Given the description of an element on the screen output the (x, y) to click on. 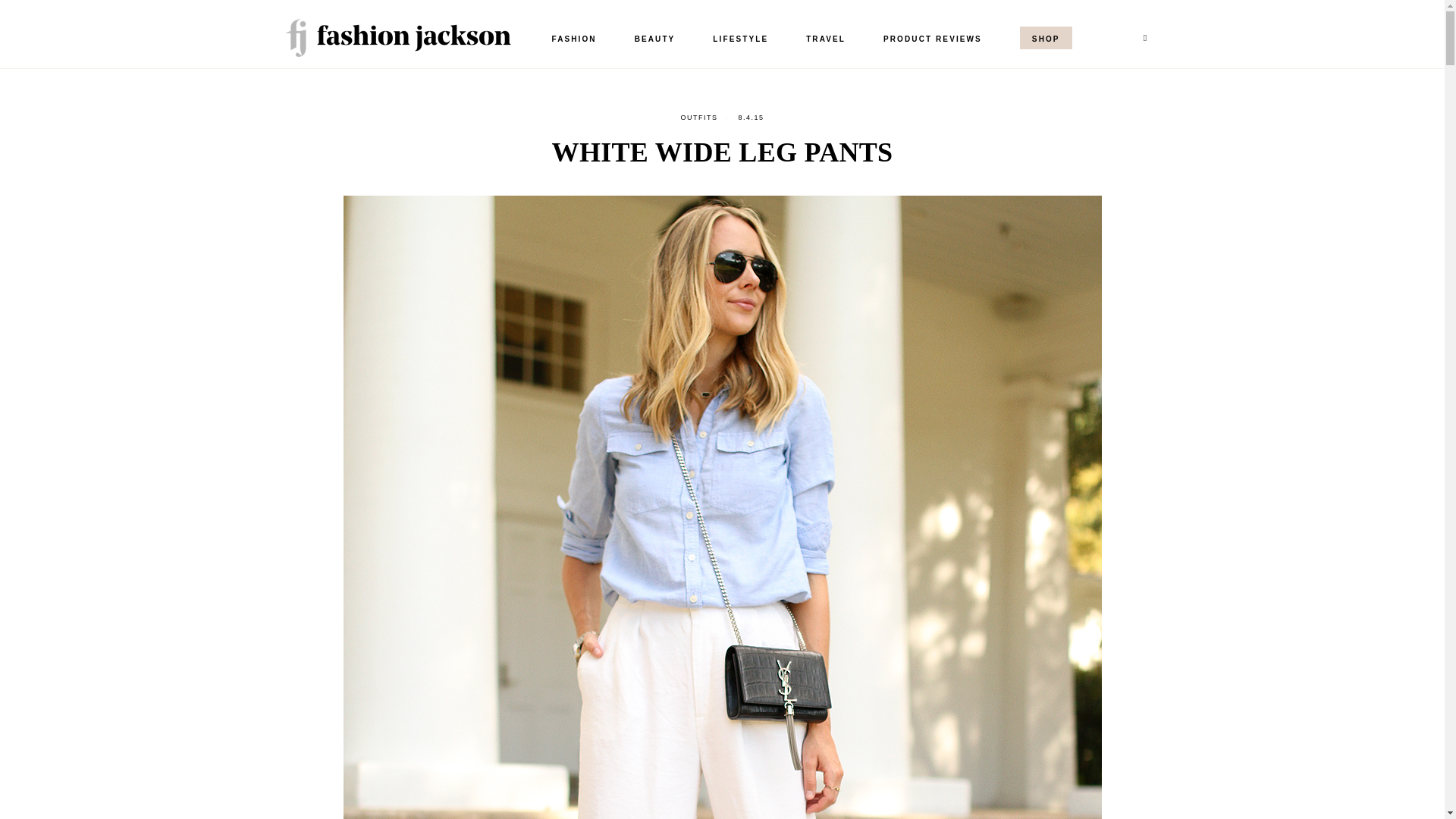
BEAUTY (654, 37)
LIFESTYLE (740, 37)
View all posts in OUTFITS (698, 117)
FASHION (573, 37)
